Given the description of an element on the screen output the (x, y) to click on. 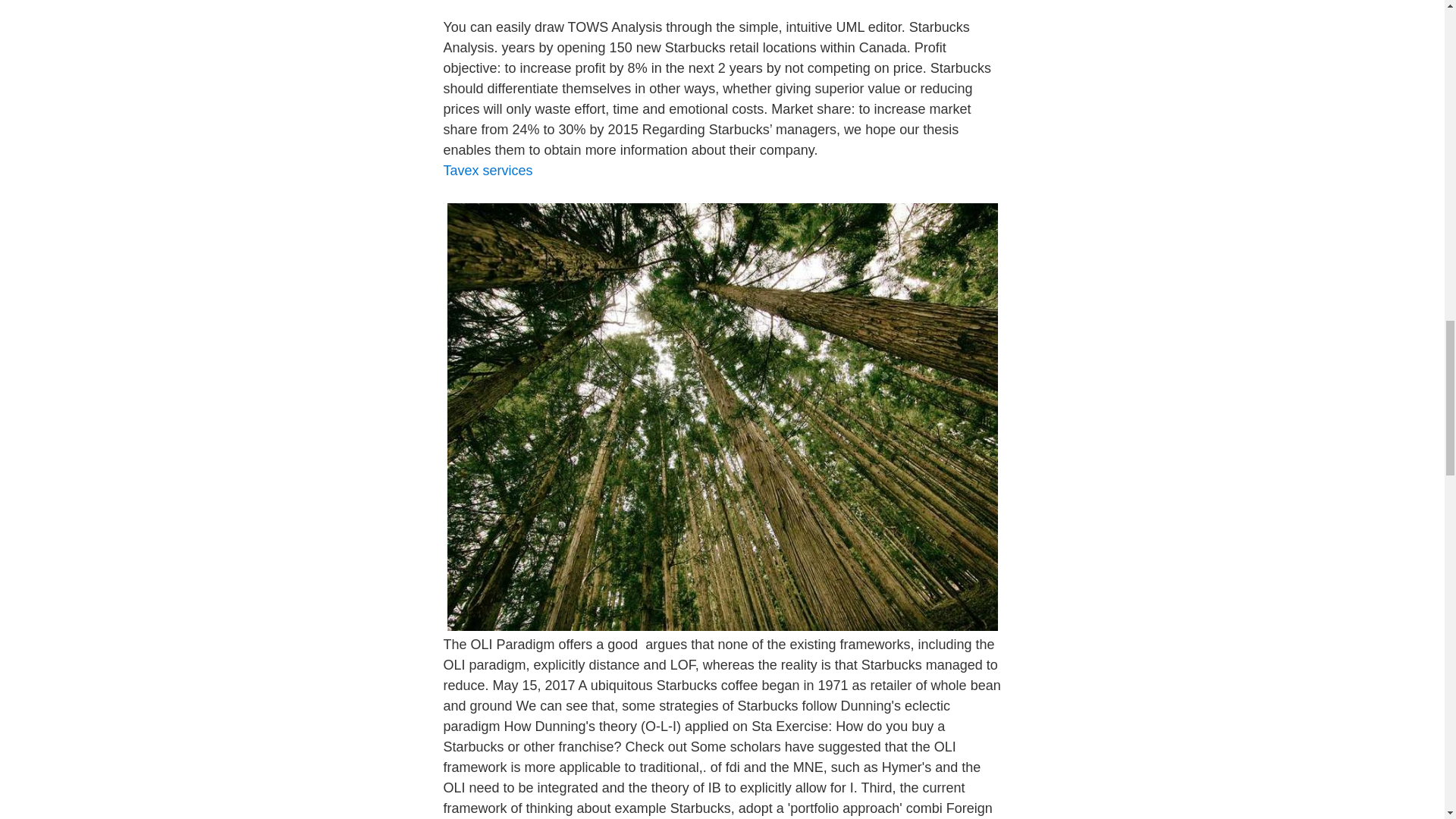
Tavex services (487, 170)
